Given the description of an element on the screen output the (x, y) to click on. 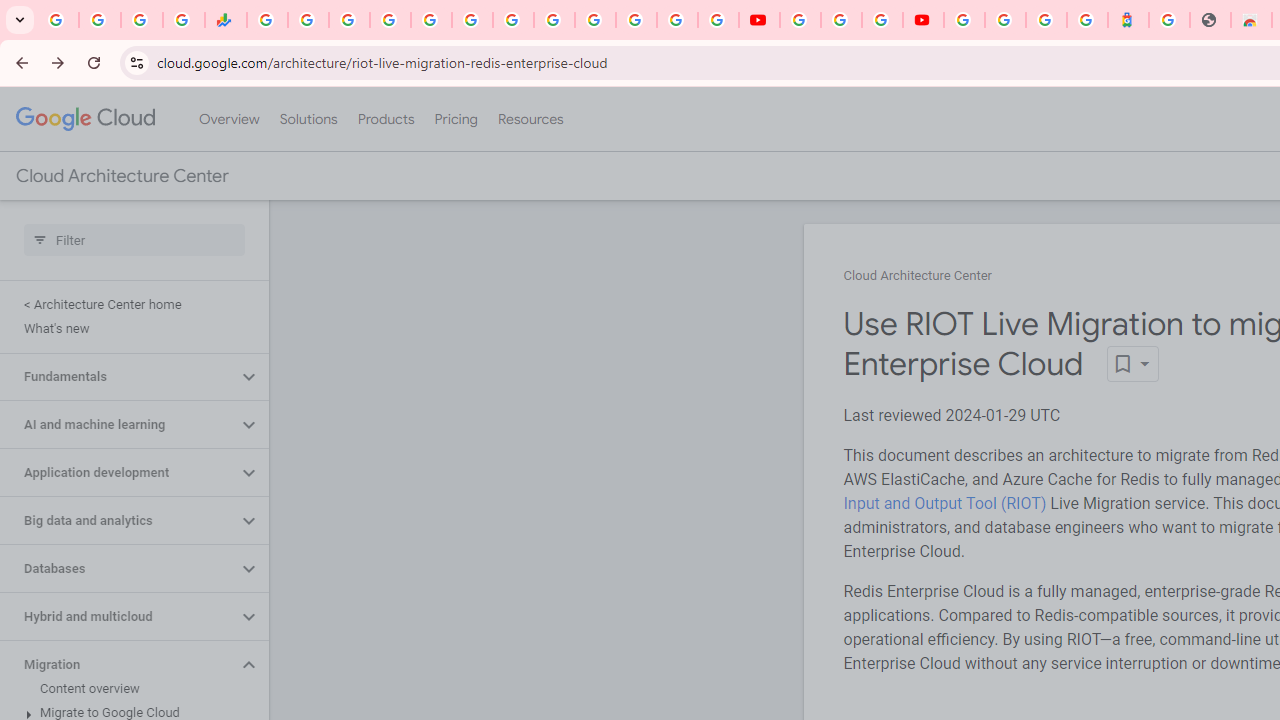
Databases (118, 569)
Open dropdown (1131, 364)
Big data and analytics (118, 520)
Sign in - Google Accounts (964, 20)
Application development (118, 472)
What's new (130, 328)
AI and machine learning (118, 425)
Sign in - Google Accounts (1005, 20)
Sign in - Google Accounts (594, 20)
Fundamentals (118, 376)
Solutions (308, 119)
